Given the description of an element on the screen output the (x, y) to click on. 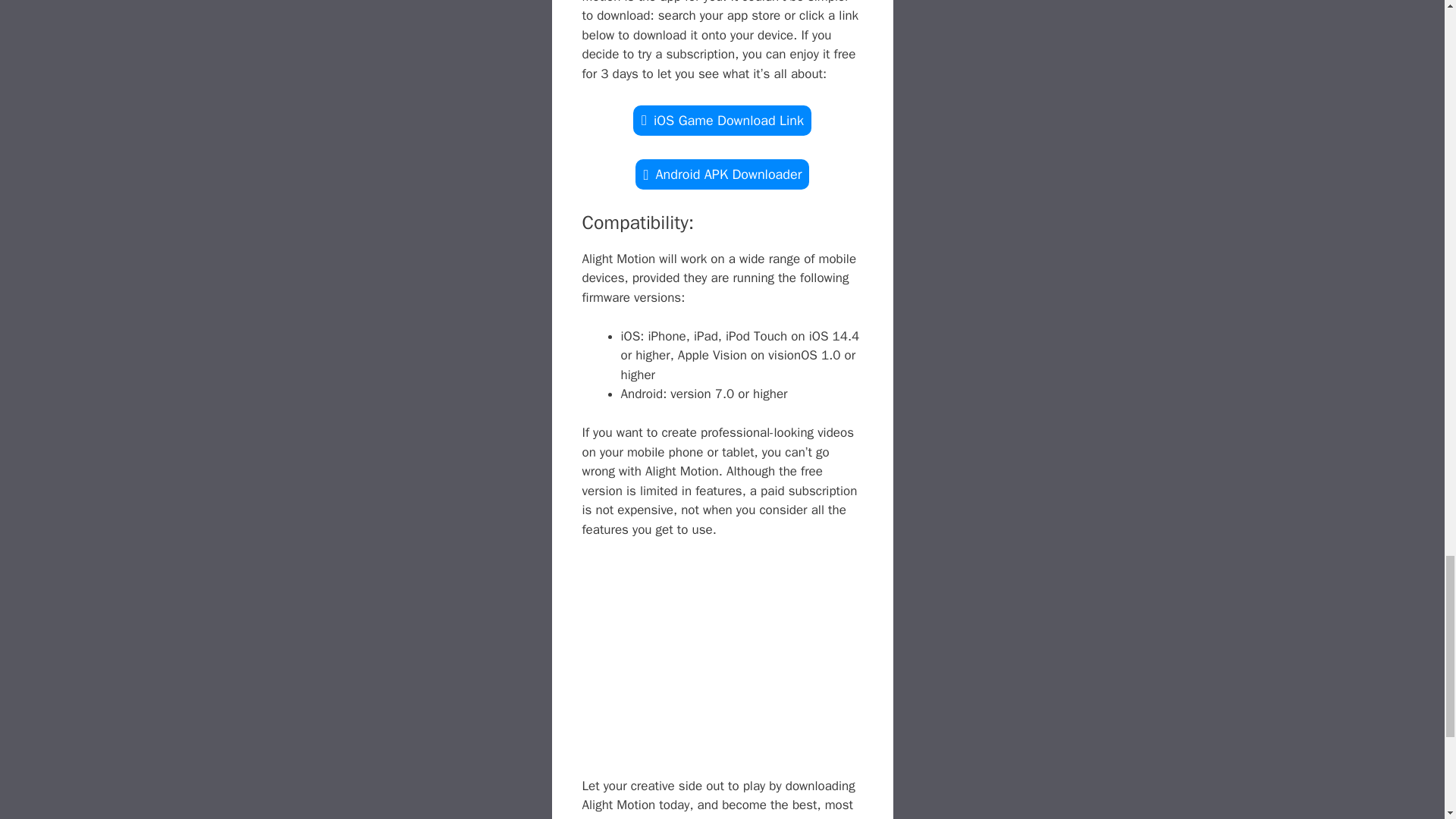
Advertisement (722, 670)
iOS Game Download Link (721, 120)
Android APK Downloader (721, 173)
